Given the description of an element on the screen output the (x, y) to click on. 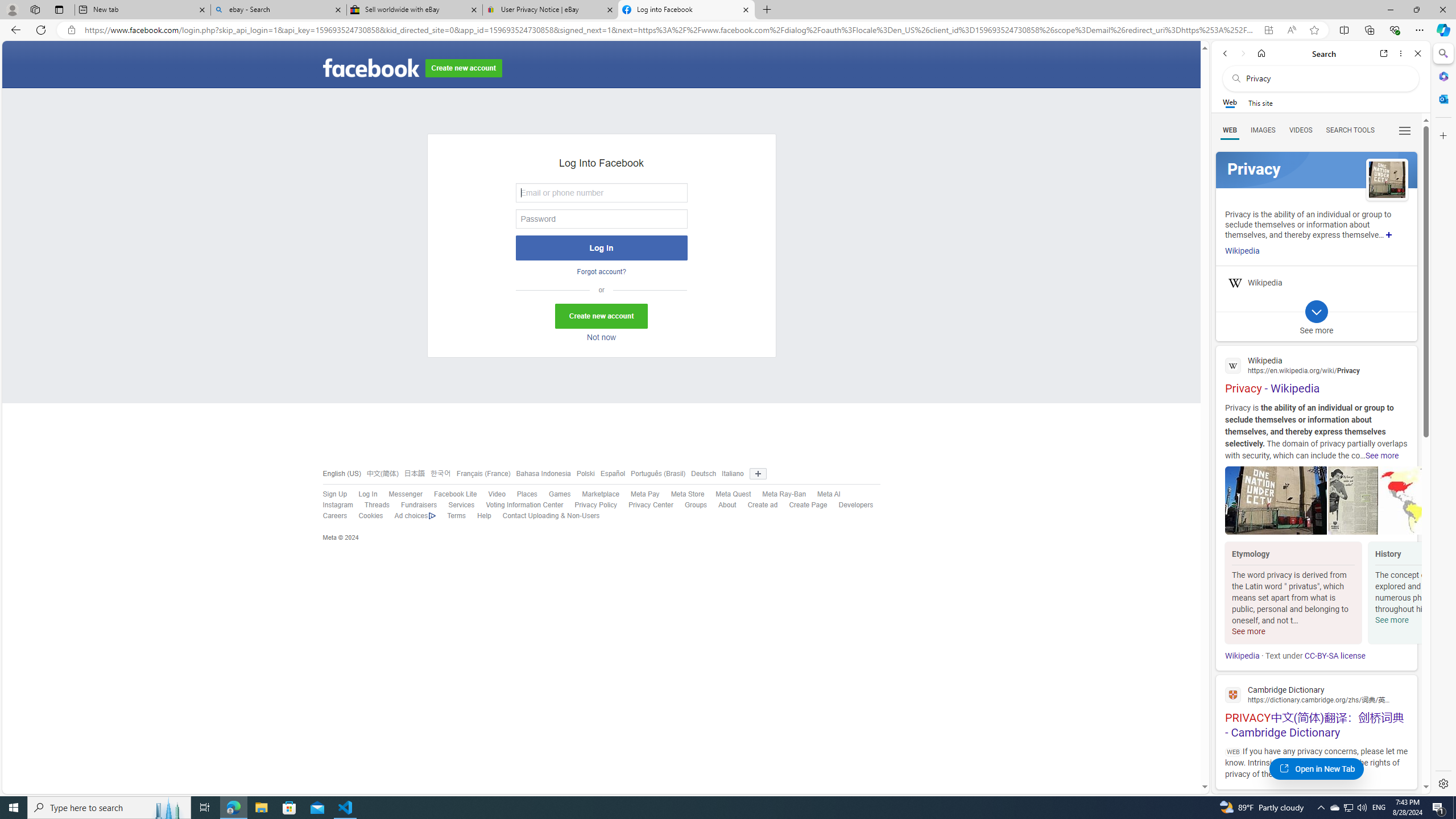
This site scope (1259, 102)
Careers (334, 515)
Video (496, 493)
Careers (329, 516)
Facebook Lite (455, 493)
Ad choices (409, 516)
Instagram (332, 505)
Facebook (370, 68)
See more images of Privacy (1386, 179)
Microsoft 365 (1442, 76)
Search Filter, Search Tools (1350, 129)
